Given the description of an element on the screen output the (x, y) to click on. 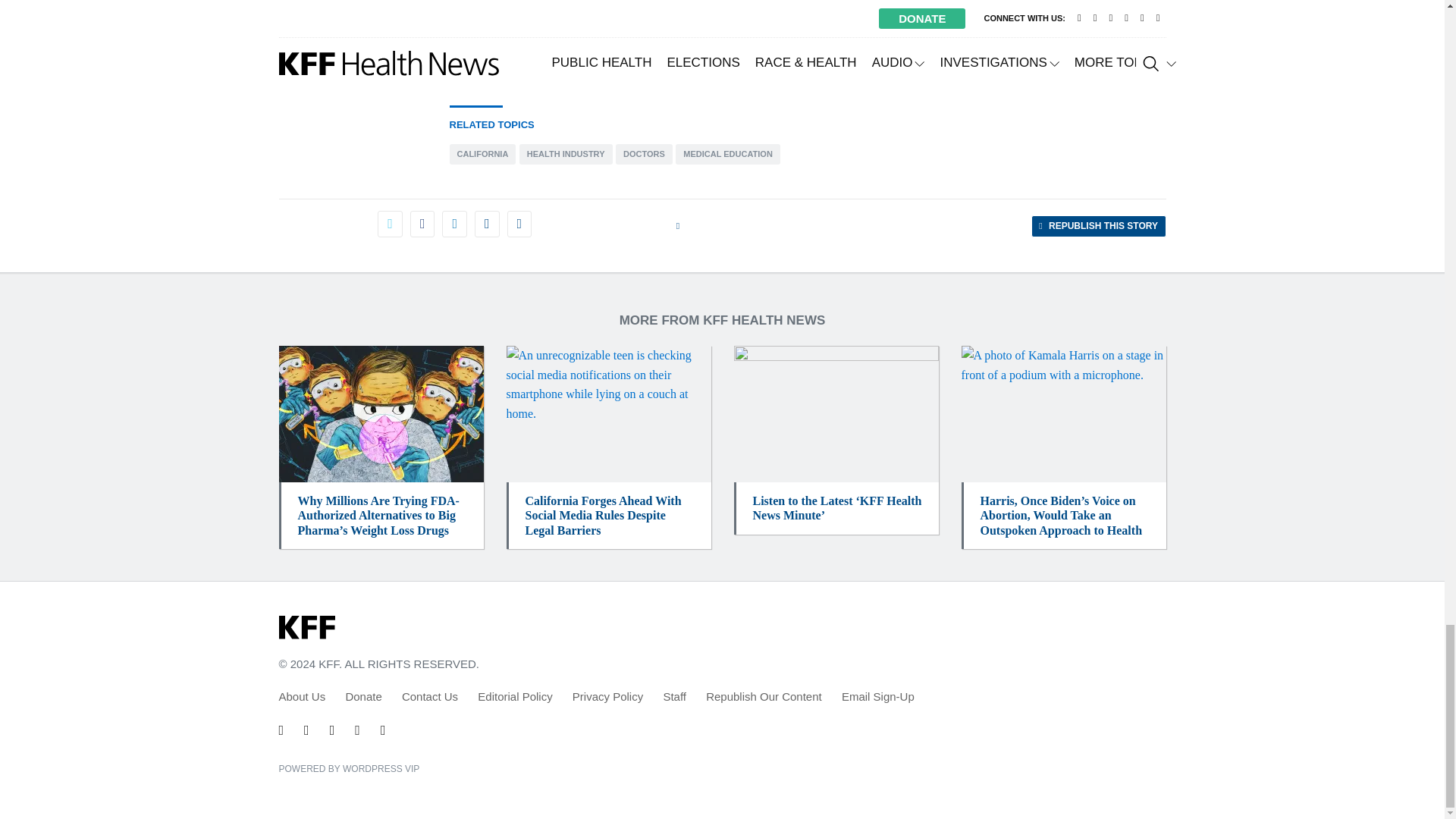
KFF (306, 627)
Click to share (1098, 225)
